Given the description of an element on the screen output the (x, y) to click on. 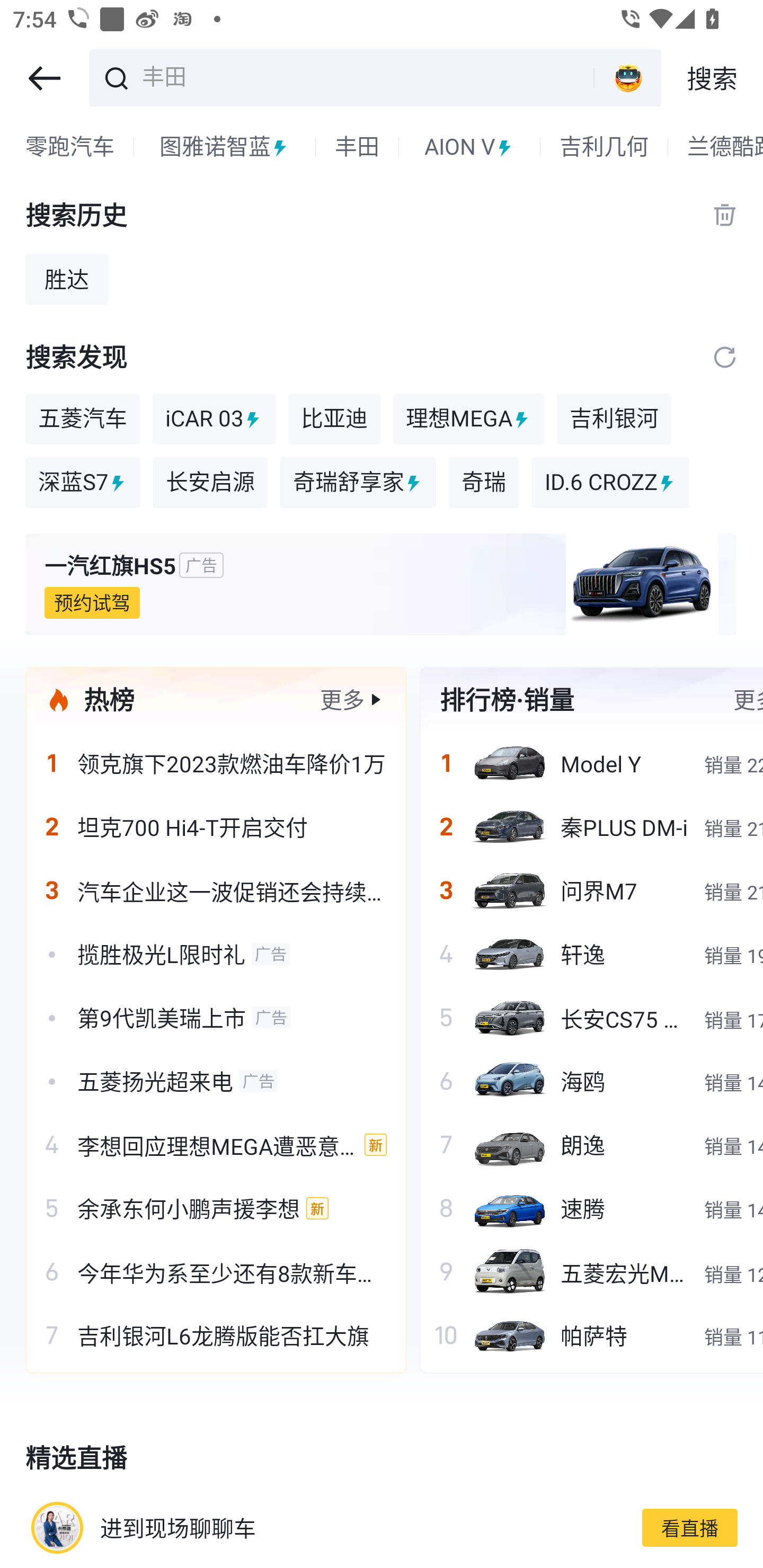
 丰田 (364, 76)
 (44, 78)
搜索 (711, 78)
零跑汽车 (69, 147)
图雅诺智蓝 (224, 147)
丰田 (356, 147)
AION V (469, 147)
吉利几何 (603, 147)
胜达 (66, 278)
 (724, 357)
五菱汽车 (82, 418)
iCAR 03 (213, 418)
比亚迪 (334, 418)
理想MEGA (468, 418)
吉利银河 (613, 418)
深蓝S7 (82, 482)
长安启源 (210, 482)
奇瑞舒享家 (358, 482)
奇瑞 (483, 482)
ID.6 CROZZ (609, 482)
一汽红旗HS5 广告 预约试驾 (381, 584)
更多 (341, 699)
领克旗下2023款燃油车降价1万 (215, 763)
Model Y 销量 22537 (591, 763)
坦克700 Hi4-T开启交付 (215, 826)
秦PLUS DM-i 销量 21268 (591, 826)
汽车企业这一波促销还会持续多久 (215, 890)
问界M7 销量 21083 (591, 890)
揽胜极光L限时礼 (215, 953)
轩逸 销量 19878 (591, 953)
第9代凯美瑞上市 (215, 1017)
长安CS75 PLUS 销量 17303 (591, 1017)
五菱扬光超来电 (215, 1080)
海鸥 销量 14403 (591, 1080)
李想回应理想MEGA遭恶意P图 (215, 1144)
朗逸 销量 14400 (591, 1144)
余承东何小鹏声援李想 (215, 1208)
速腾 销量 14209 (591, 1208)
今年华为系至少还有8款新车要来 (215, 1271)
五菱宏光MINIEV 销量 12649 (591, 1271)
吉利银河L6龙腾版能否扛大旗 (215, 1335)
帕萨特 销量 11641 (591, 1335)
进到现场聊聊车 看直播 (381, 1526)
